Given the description of an element on the screen output the (x, y) to click on. 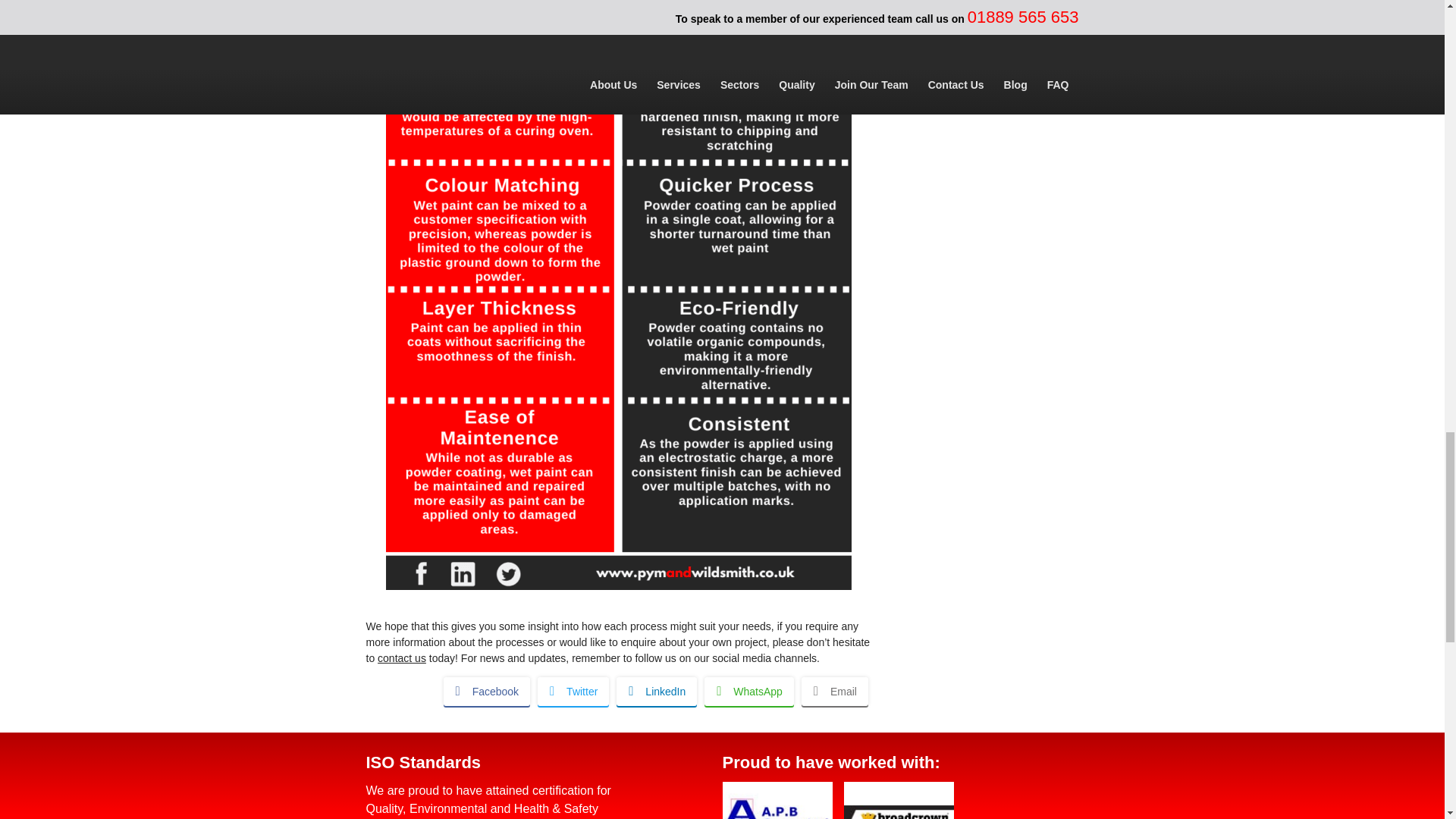
Facebook (486, 690)
LinkedIn (656, 690)
Email (834, 690)
WhatsApp (748, 690)
contact us (401, 657)
Twitter (572, 690)
